Given the description of an element on the screen output the (x, y) to click on. 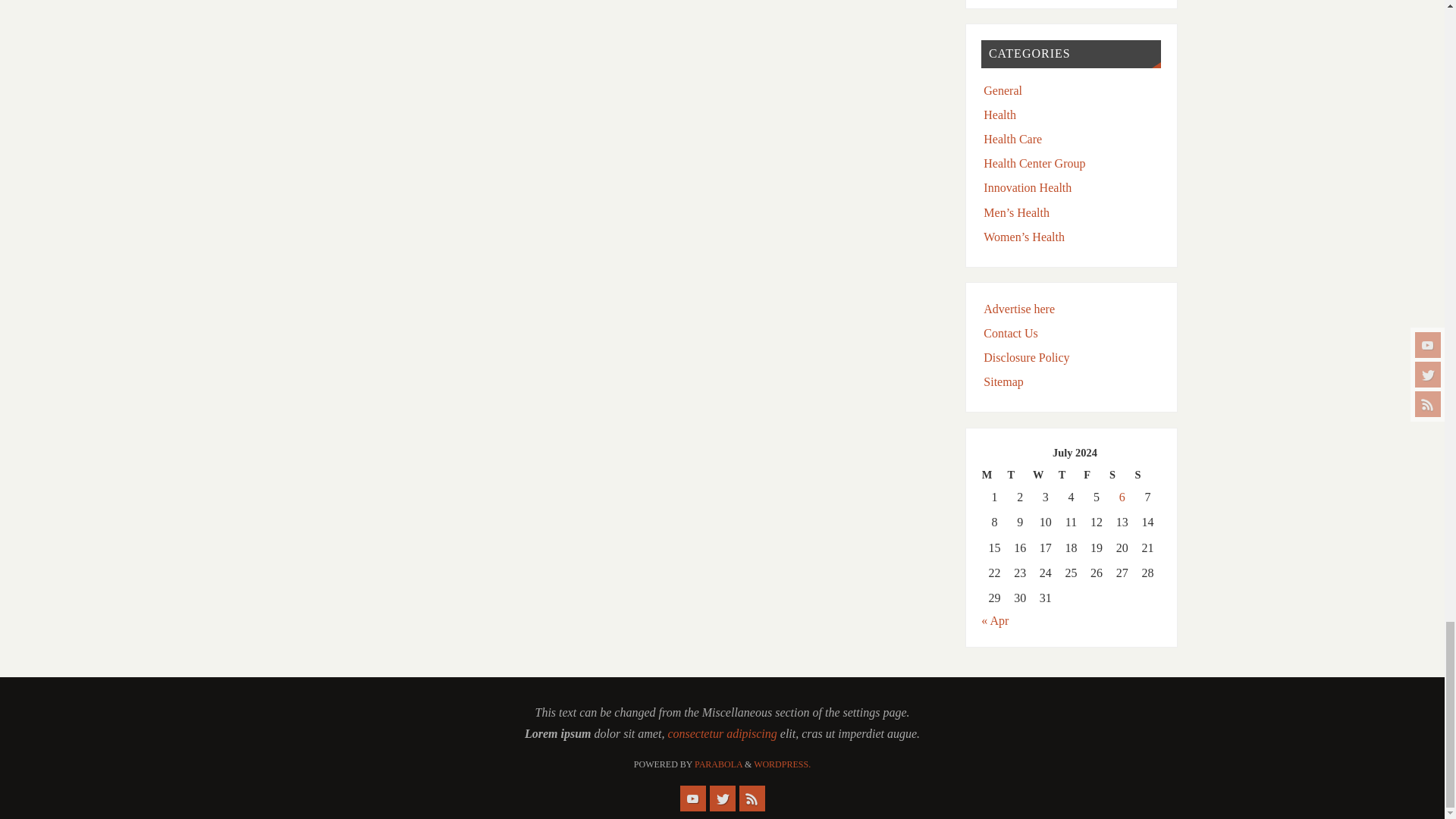
Tuesday (1019, 475)
Wednesday (1045, 475)
Monday (994, 475)
